Given the description of an element on the screen output the (x, y) to click on. 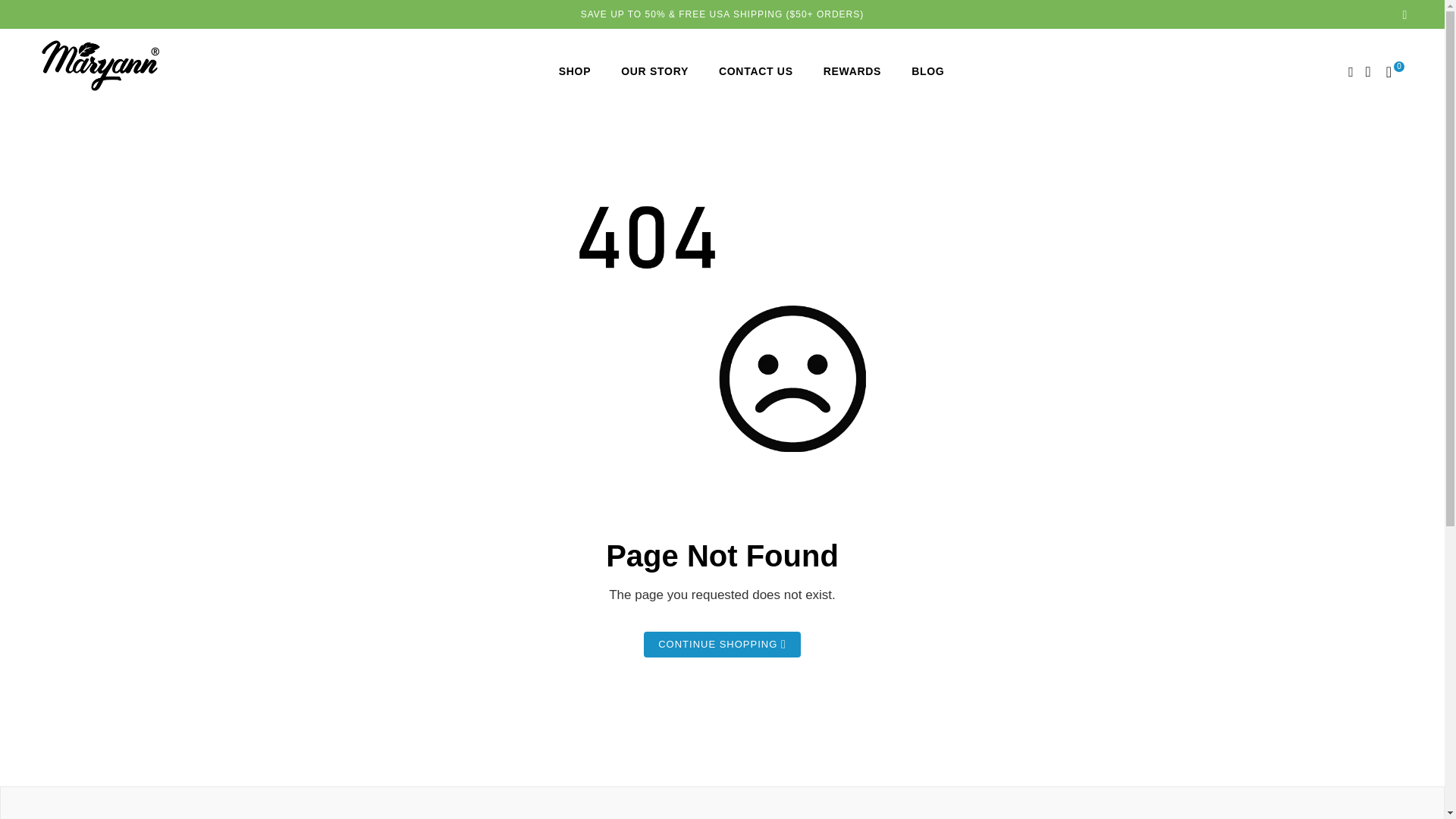
CONTACT US (755, 71)
REWARDS (852, 71)
BLOG (927, 71)
SHOP (574, 71)
OUR STORY (654, 71)
